Given the description of an element on the screen output the (x, y) to click on. 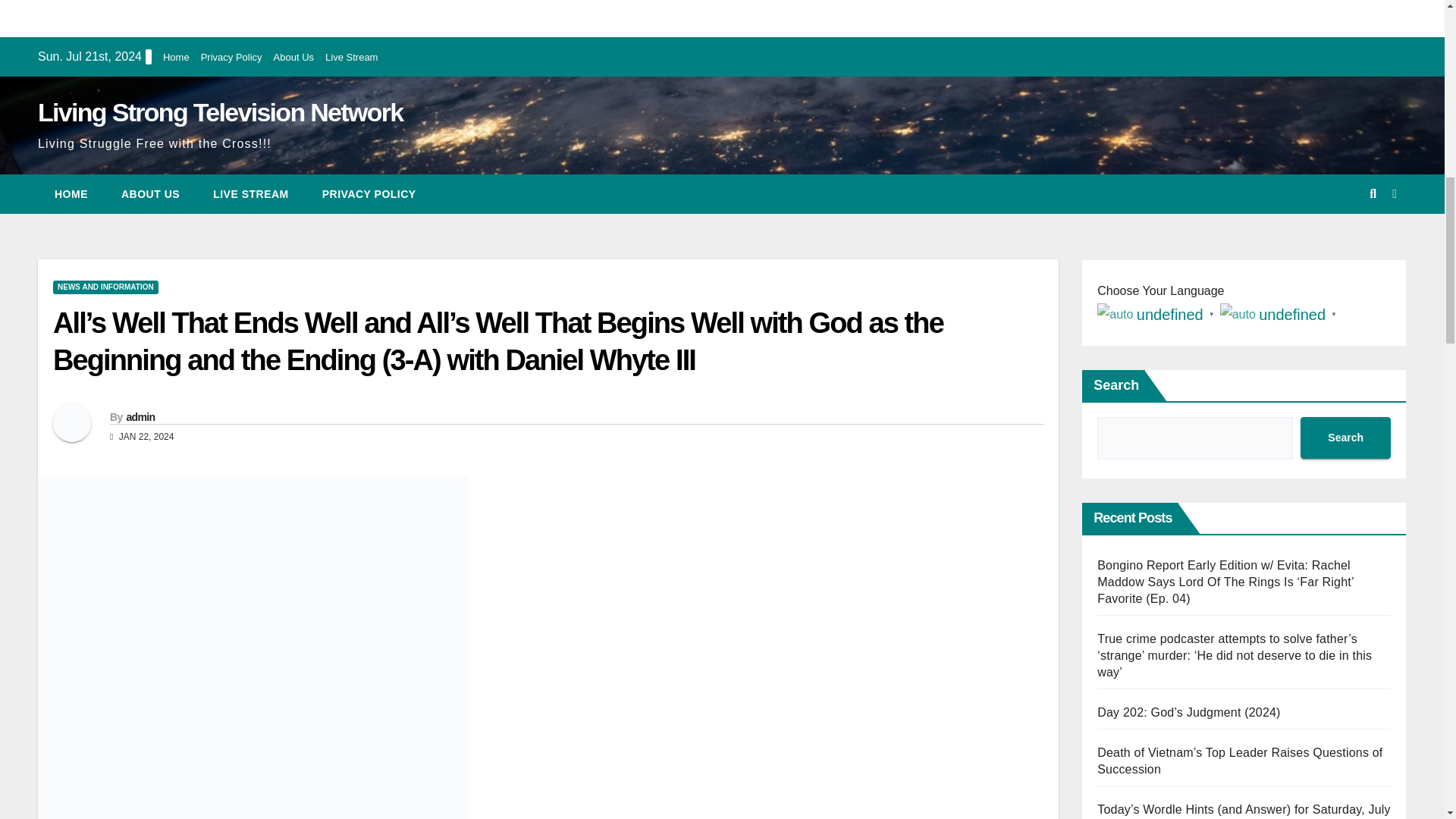
ABOUT US (150, 193)
Live Stream (350, 57)
Privacy Policy (231, 57)
admin (139, 417)
Living Strong Television Network (220, 111)
HOME (70, 193)
NEWS AND INFORMATION (105, 287)
About Us (293, 57)
PRIVACY POLICY (368, 193)
Home (176, 57)
Home (70, 193)
LIVE STREAM (250, 193)
